Given the description of an element on the screen output the (x, y) to click on. 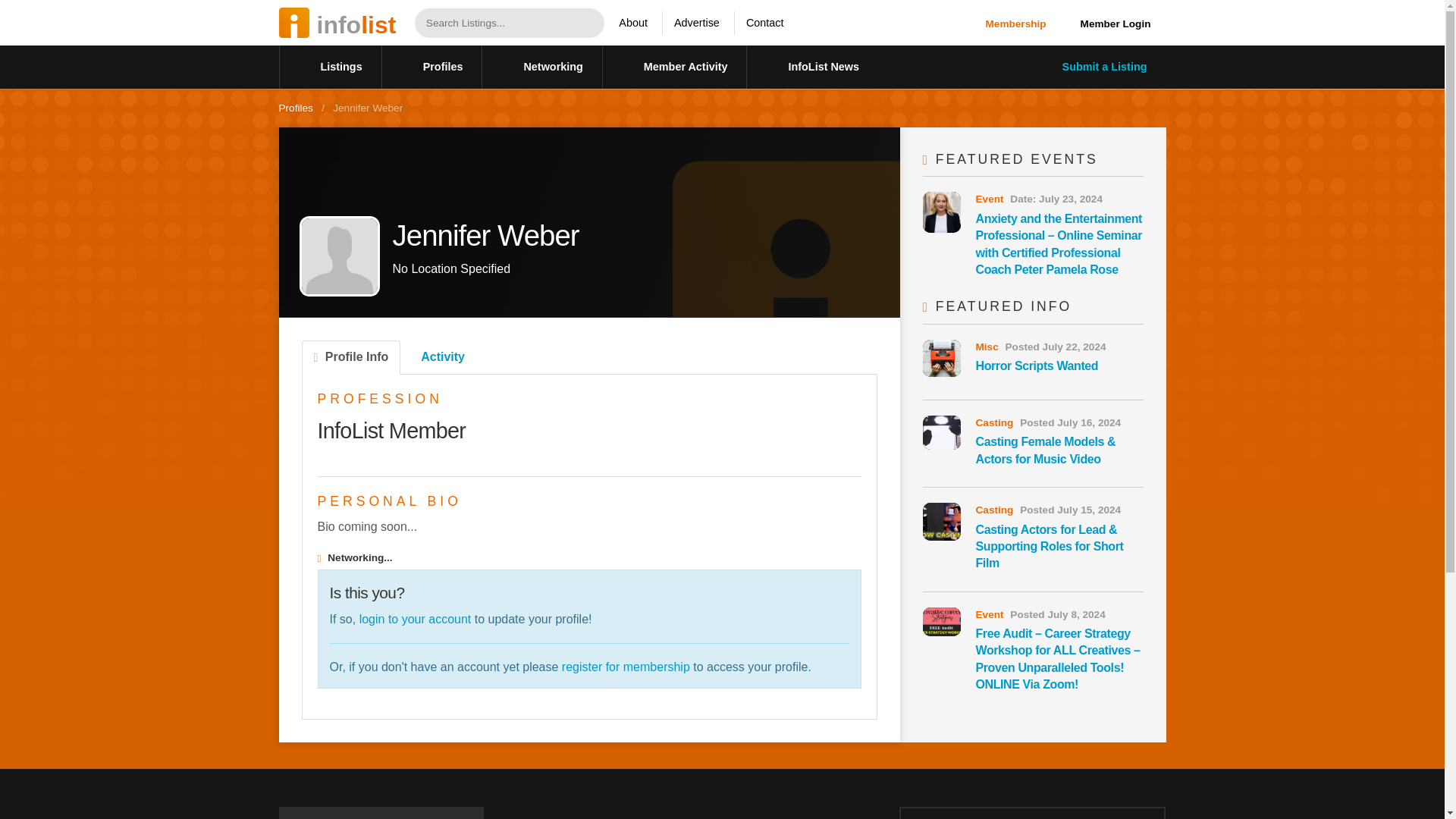
login to your account (415, 618)
Contact (764, 23)
Profile Info (351, 357)
Profiles (431, 66)
Advertise (696, 23)
register for membership (626, 666)
Submit a Listing (1094, 66)
Search for: (493, 22)
Membership (1016, 23)
infolist (337, 22)
About (633, 23)
Activity (439, 357)
Horror Scripts Wanted (1036, 365)
Member Activity (674, 66)
Networking (541, 66)
